Given the description of an element on the screen output the (x, y) to click on. 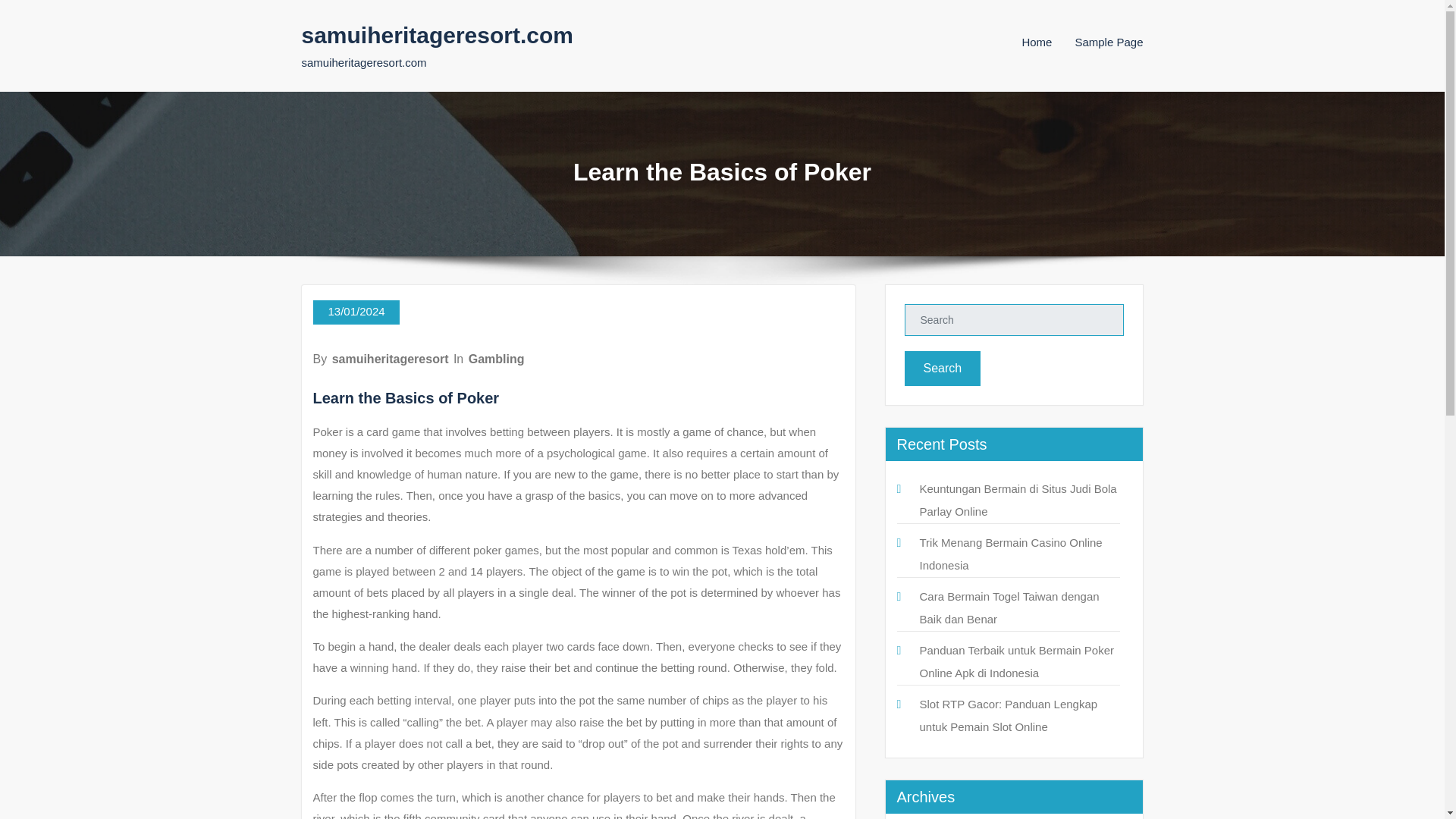
Home (1036, 41)
samuiheritageresort.com (437, 34)
Panduan Terbaik untuk Bermain Poker Online Apk di Indonesia (1015, 661)
Keuntungan Bermain di Situs Judi Bola Parlay Online (1017, 499)
Cara Bermain Togel Taiwan dengan Baik dan Benar (1008, 607)
Gambling (496, 358)
Trik Menang Bermain Casino Online Indonesia (1010, 553)
Search (941, 368)
Home (1036, 41)
samuiheritageresort (389, 358)
